Given the description of an element on the screen output the (x, y) to click on. 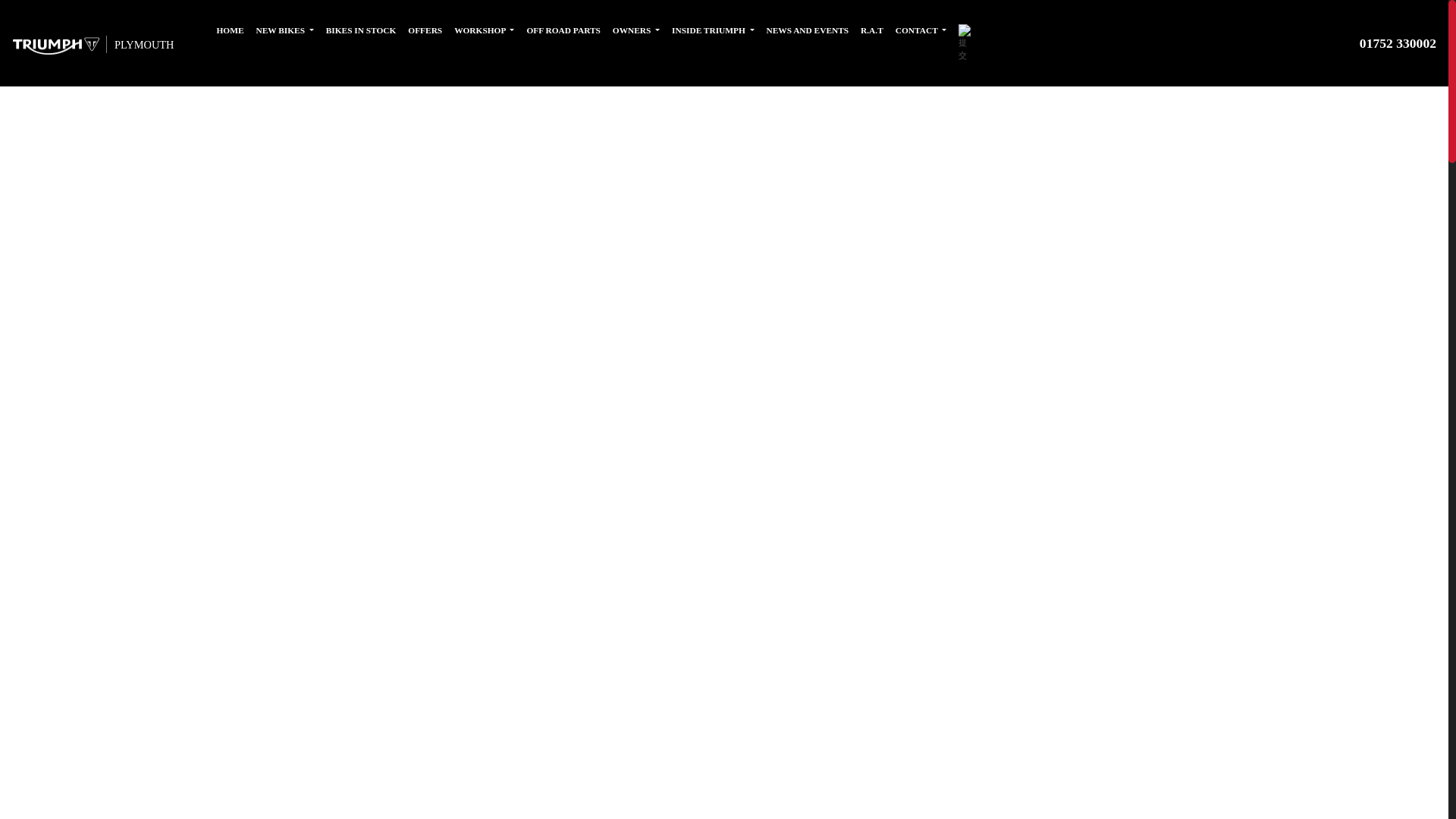
INSIDE TRIUMPH (712, 30)
BIKES IN STOCK (361, 30)
OFF ROAD PARTS (562, 30)
NEWS AND EVENTS (807, 30)
R.A.T (871, 30)
OFFERS (424, 30)
NEW BIKES (285, 30)
Bikes In Stock (361, 30)
OWNERS (636, 30)
CONTACT (921, 30)
